Given the description of an element on the screen output the (x, y) to click on. 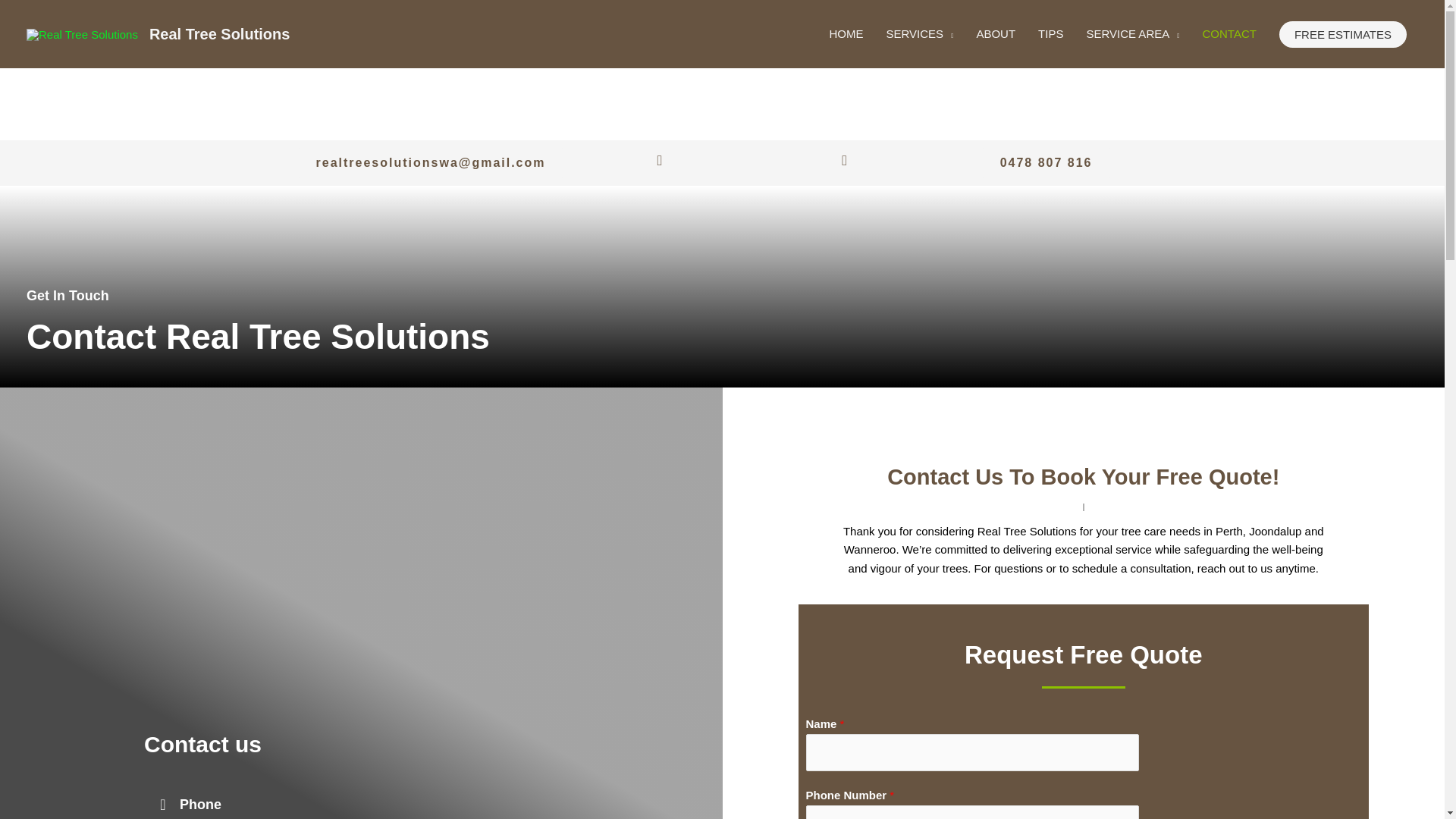
0478 807 816 (1045, 163)
SERVICES (920, 33)
Real Tree Solutions (219, 33)
CONTACT (1229, 33)
Phone (200, 804)
TIPS (1050, 33)
FREE ESTIMATES (1342, 34)
ABOUT (994, 33)
HOME (846, 33)
SERVICE AREA (1132, 33)
